Given the description of an element on the screen output the (x, y) to click on. 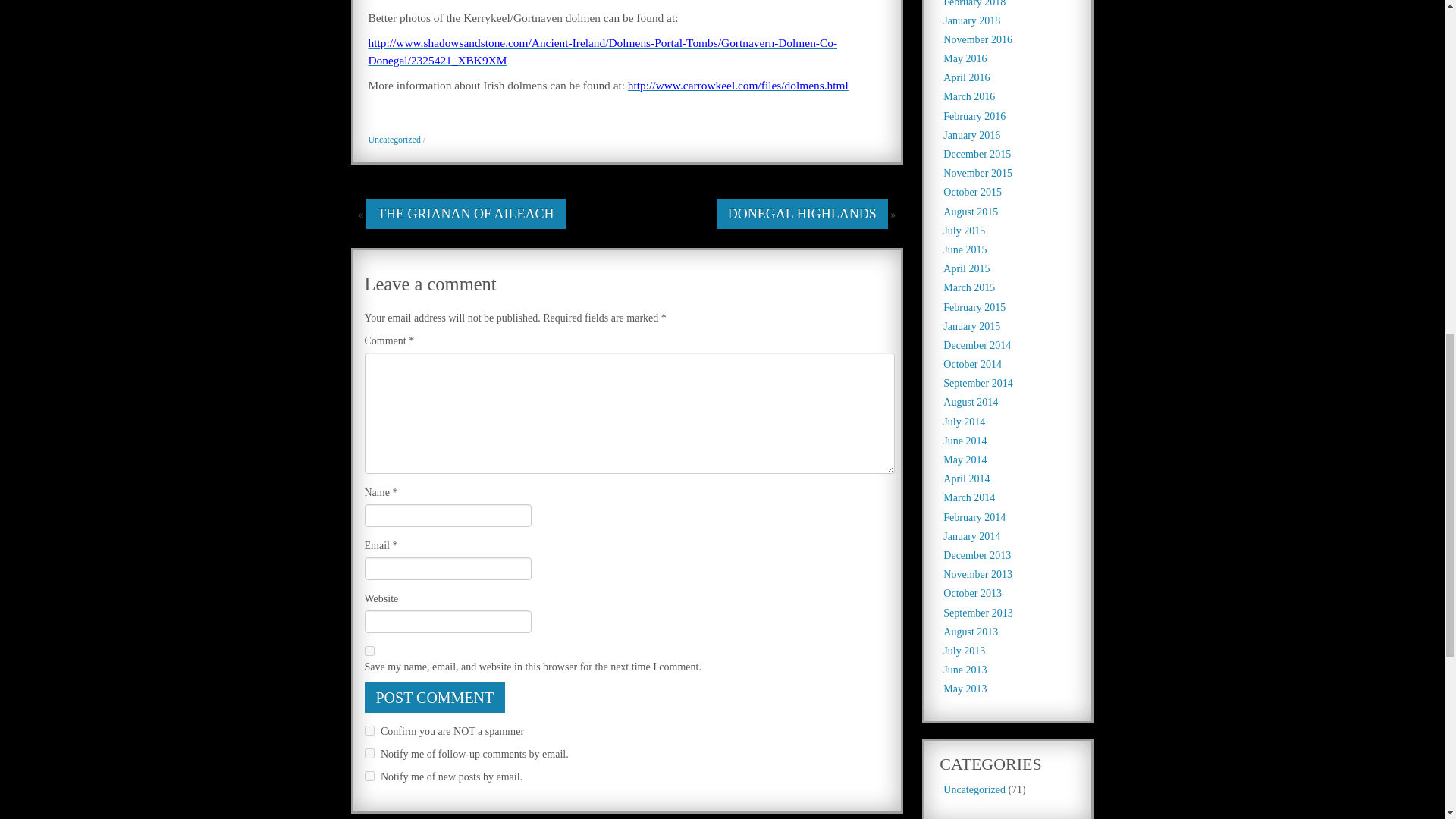
DONEGAL HIGHLANDS (802, 214)
Uncategorized (394, 139)
March 2016 (968, 96)
January 2018 (971, 20)
April 2016 (966, 77)
Post Comment (434, 697)
on (369, 730)
November 2016 (977, 39)
yes (369, 651)
subscribe (369, 753)
THE GRIANAN OF AILEACH (466, 214)
February 2016 (974, 116)
May 2016 (965, 58)
Post Comment (434, 697)
subscribe (369, 776)
